Given the description of an element on the screen output the (x, y) to click on. 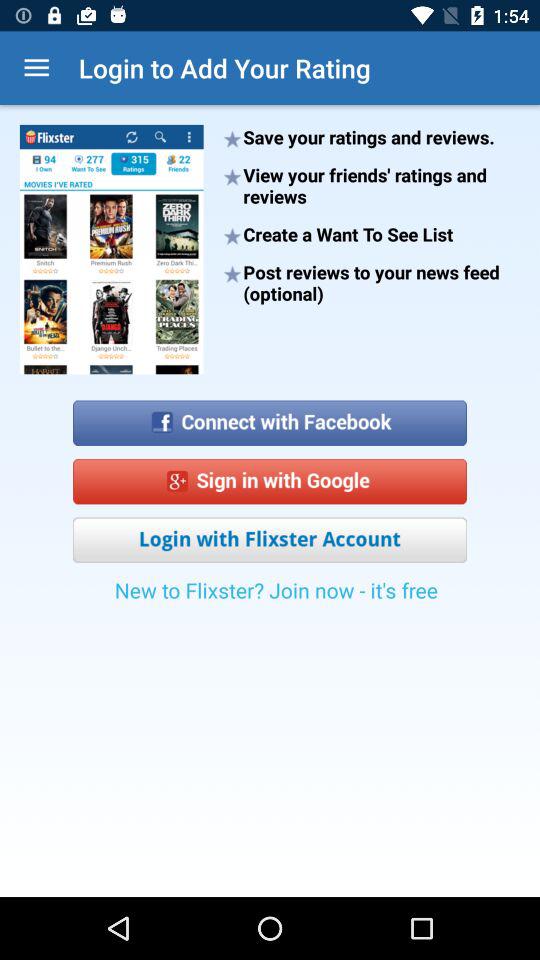
select sign in with google (270, 481)
